Given the description of an element on the screen output the (x, y) to click on. 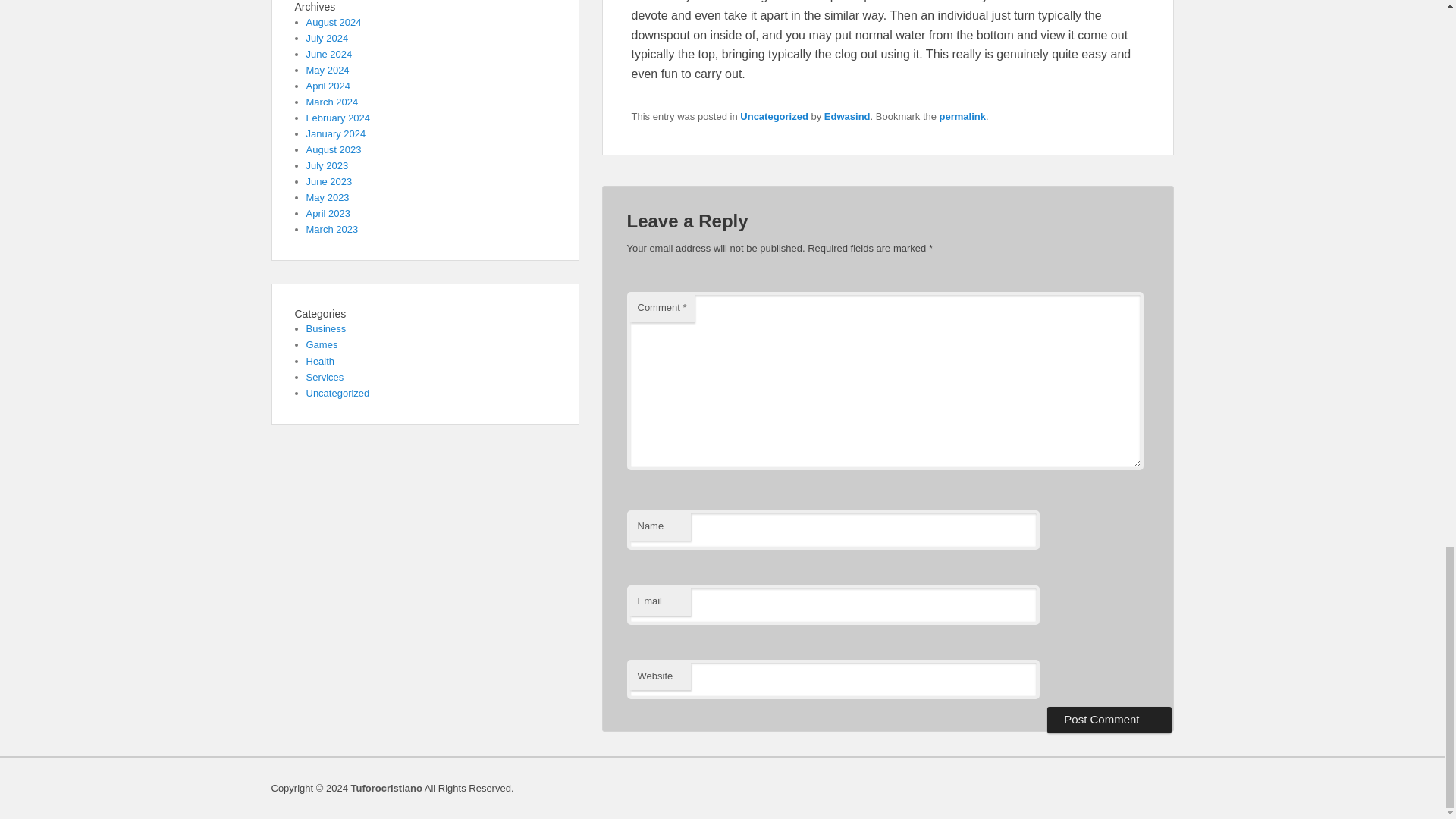
March 2024 (331, 101)
April 2024 (327, 85)
May 2024 (327, 70)
Tuforocristiano (386, 787)
Edwasind (847, 116)
Post Comment (1108, 719)
Uncategorized (773, 116)
July 2024 (327, 38)
Permalink to Tips on how to Unclog Most Gutter Spouts (962, 116)
permalink (962, 116)
